Given the description of an element on the screen output the (x, y) to click on. 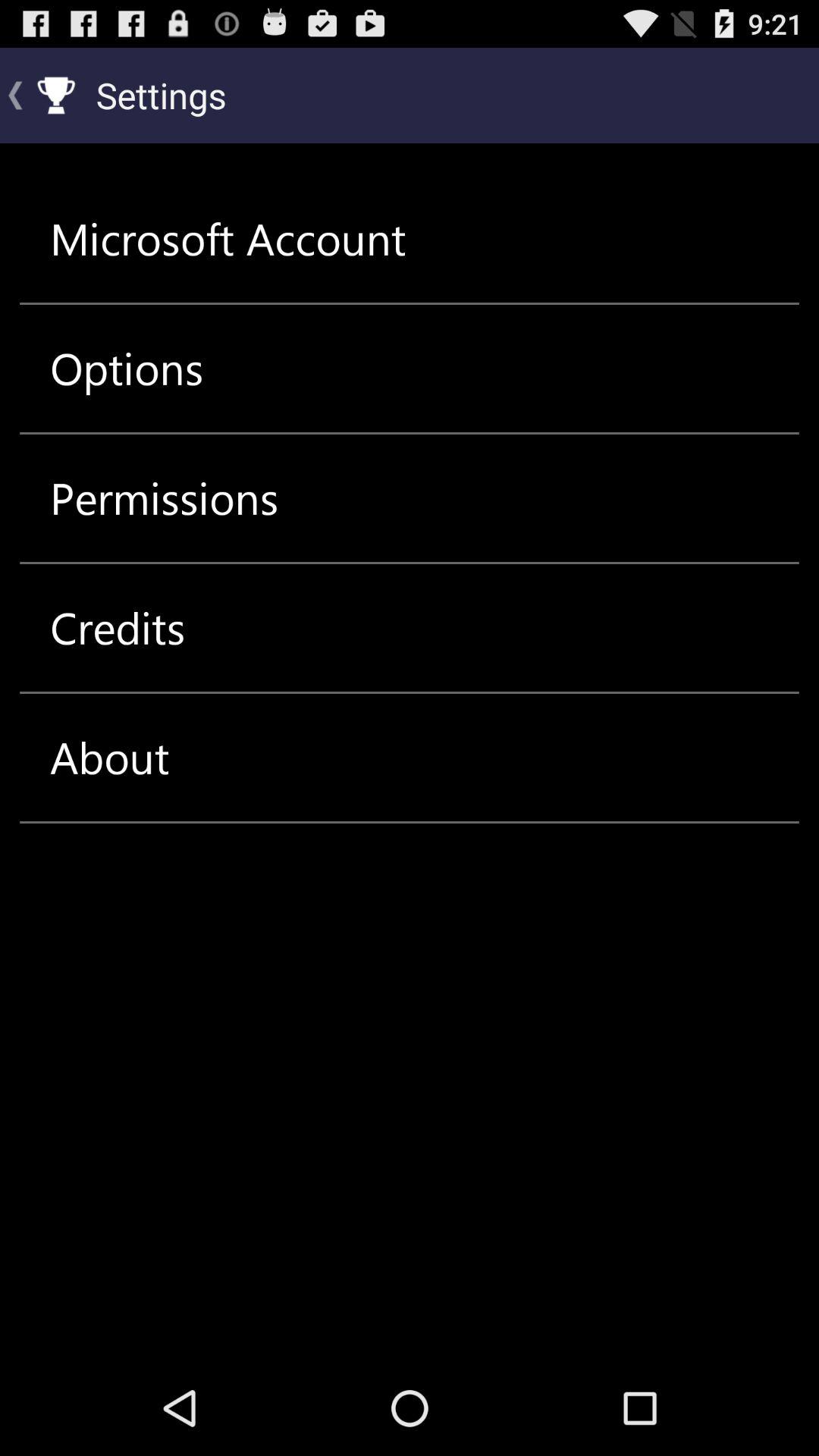
click the credits icon (117, 627)
